Given the description of an element on the screen output the (x, y) to click on. 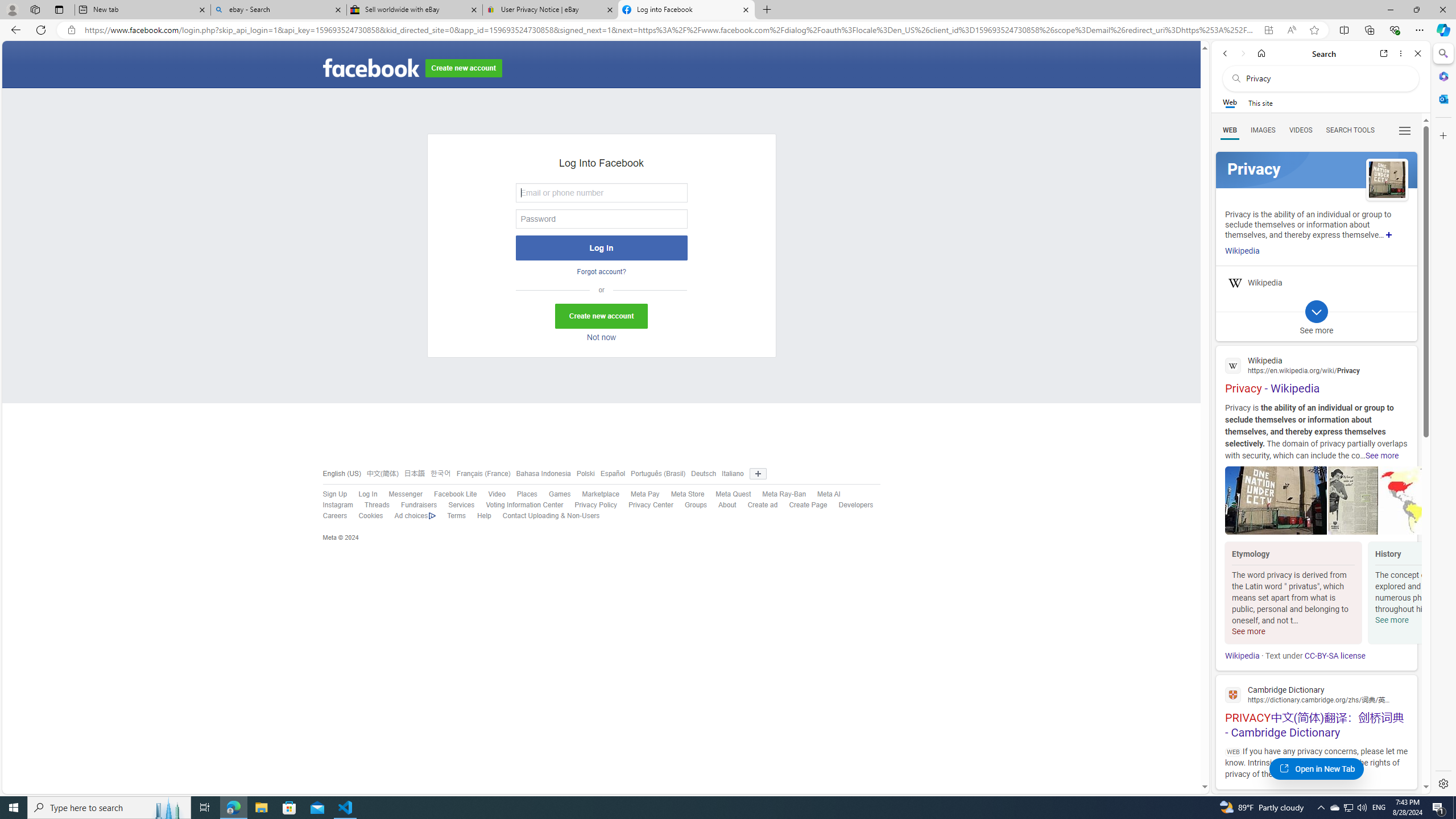
Search Filter, IMAGES (1262, 129)
Search Filter, VIDEOS (1300, 129)
About (726, 505)
Sell worldwide with eBay (414, 9)
Games (553, 494)
Search Filter, WEB (1230, 129)
Log In (361, 494)
User Privacy Notice | eBay (550, 9)
Create new account (600, 316)
